Given the description of an element on the screen output the (x, y) to click on. 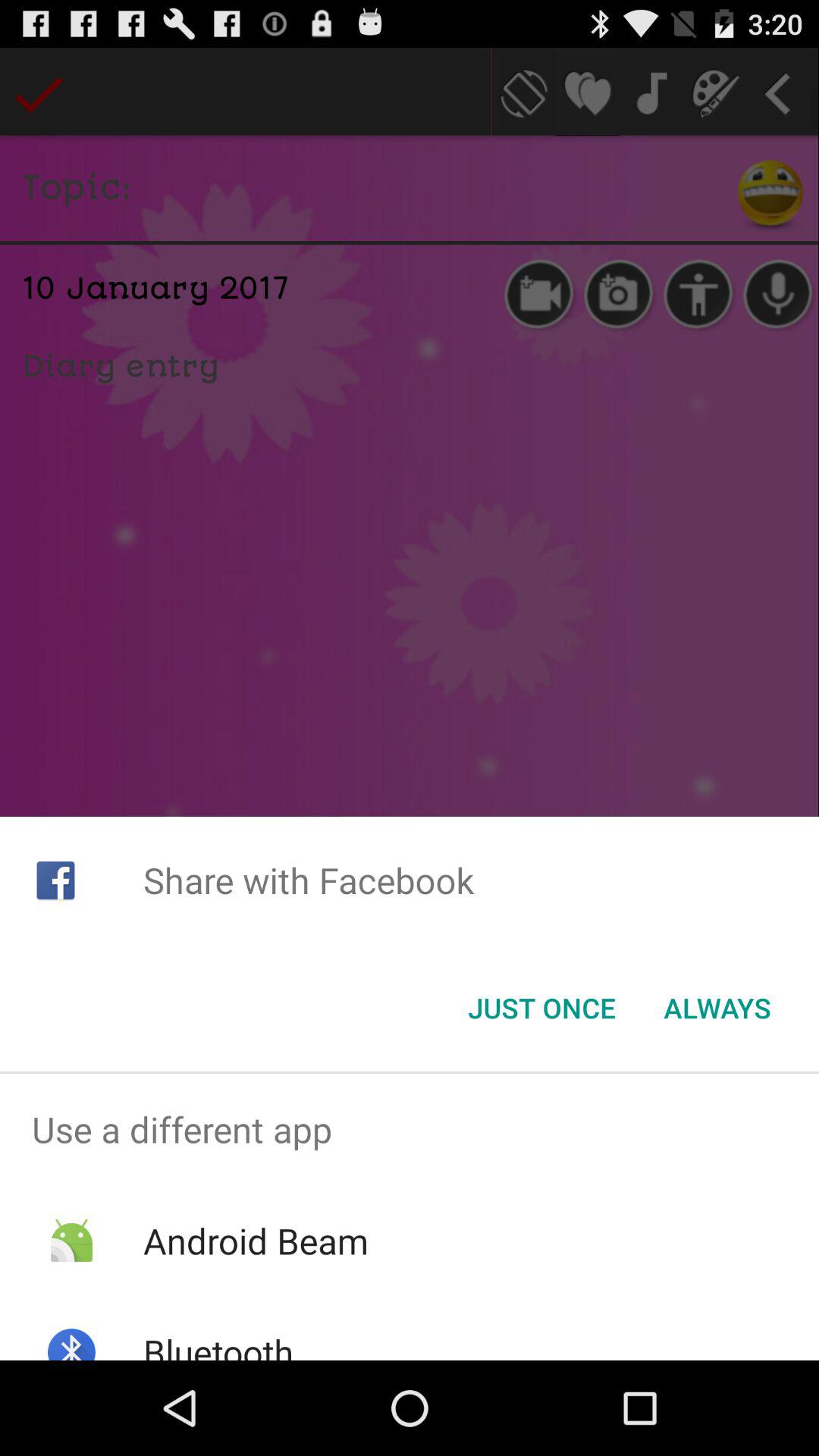
open the app below share with facebook app (541, 1007)
